Given the description of an element on the screen output the (x, y) to click on. 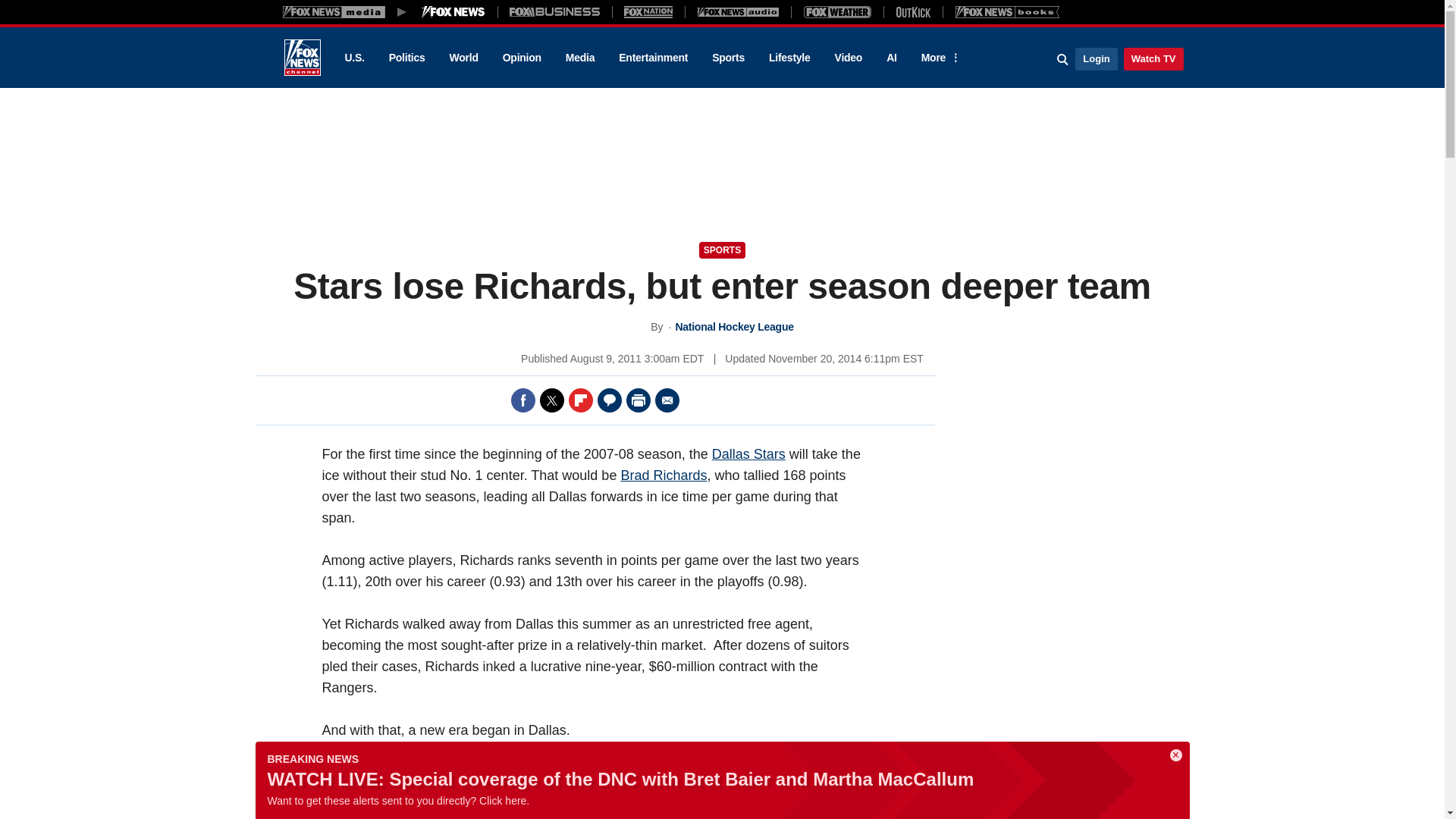
Sports (728, 57)
Politics (407, 57)
Video (848, 57)
U.S. (353, 57)
Fox News Audio (737, 11)
Fox Weather (836, 11)
More (938, 57)
Fox News (301, 57)
Fox Business (554, 11)
Fox News Media (453, 11)
